Given the description of an element on the screen output the (x, y) to click on. 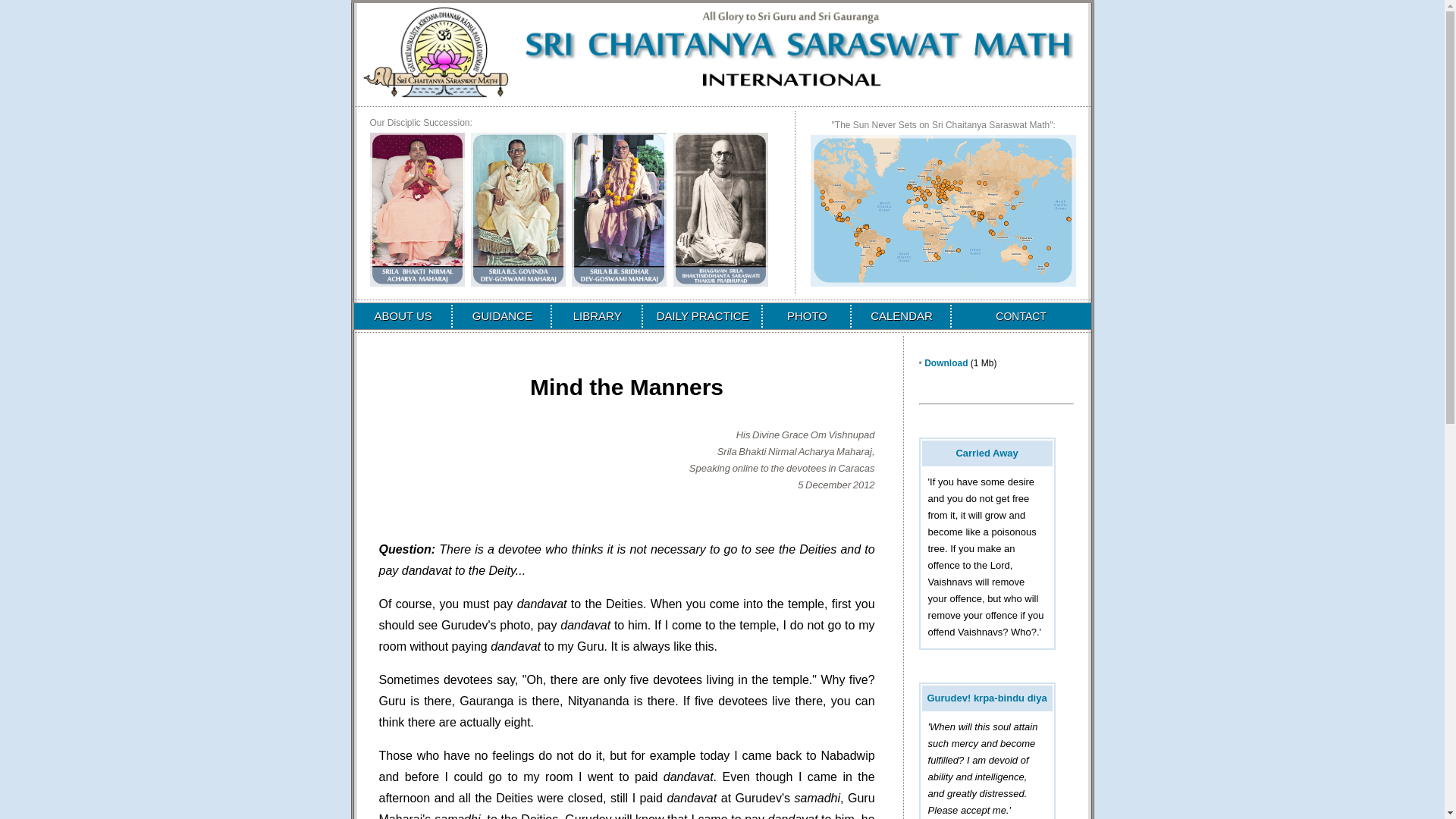
LIBRARY (597, 315)
ABOUT US (402, 315)
GUIDANCE (501, 315)
